Given the description of an element on the screen output the (x, y) to click on. 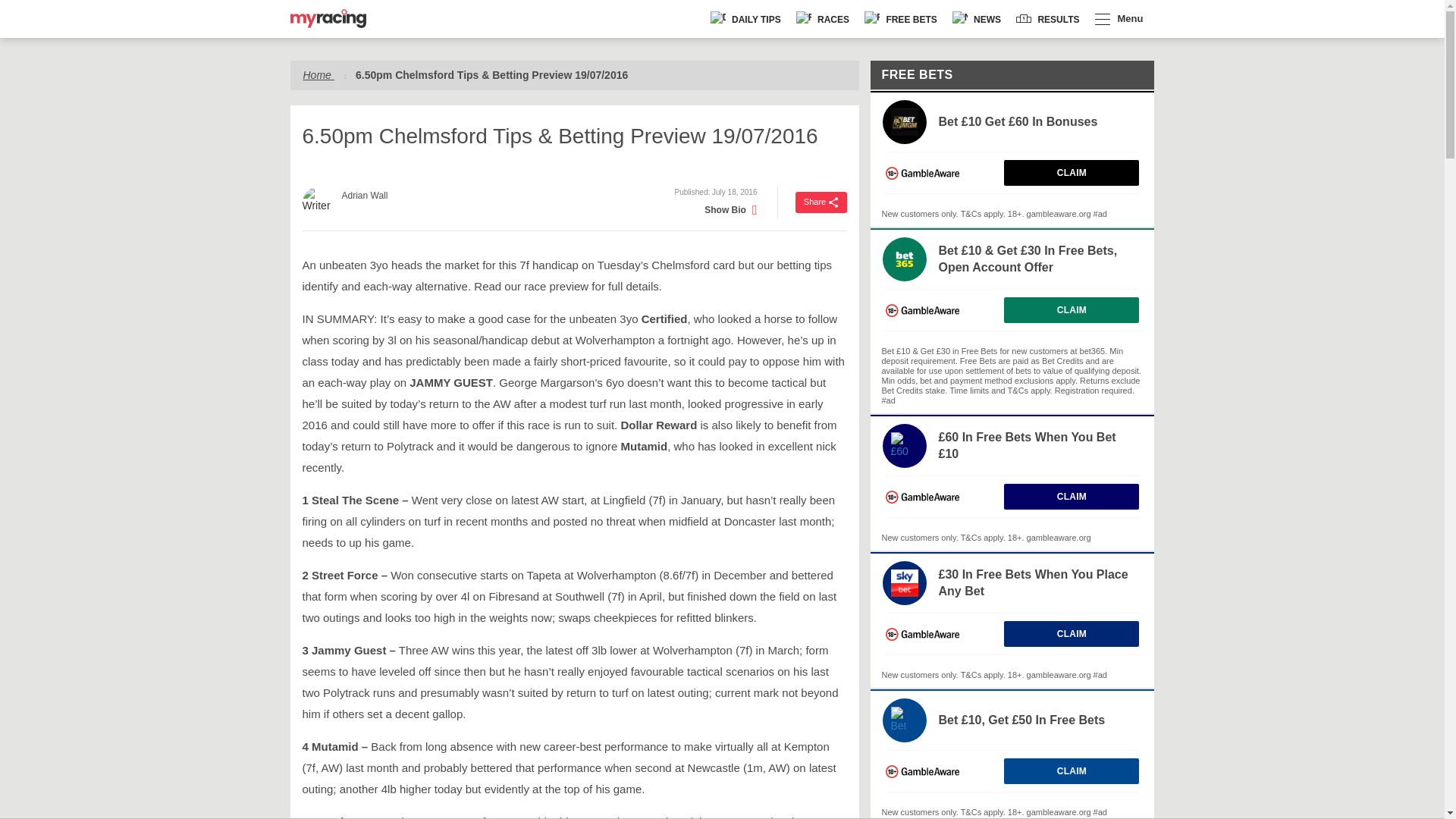
DAILY TIPS (746, 19)
RACES (823, 19)
RESULTS (1047, 19)
FREE BETS (900, 19)
Home (318, 74)
NEWS (976, 19)
Menu (1119, 19)
